Given the description of an element on the screen output the (x, y) to click on. 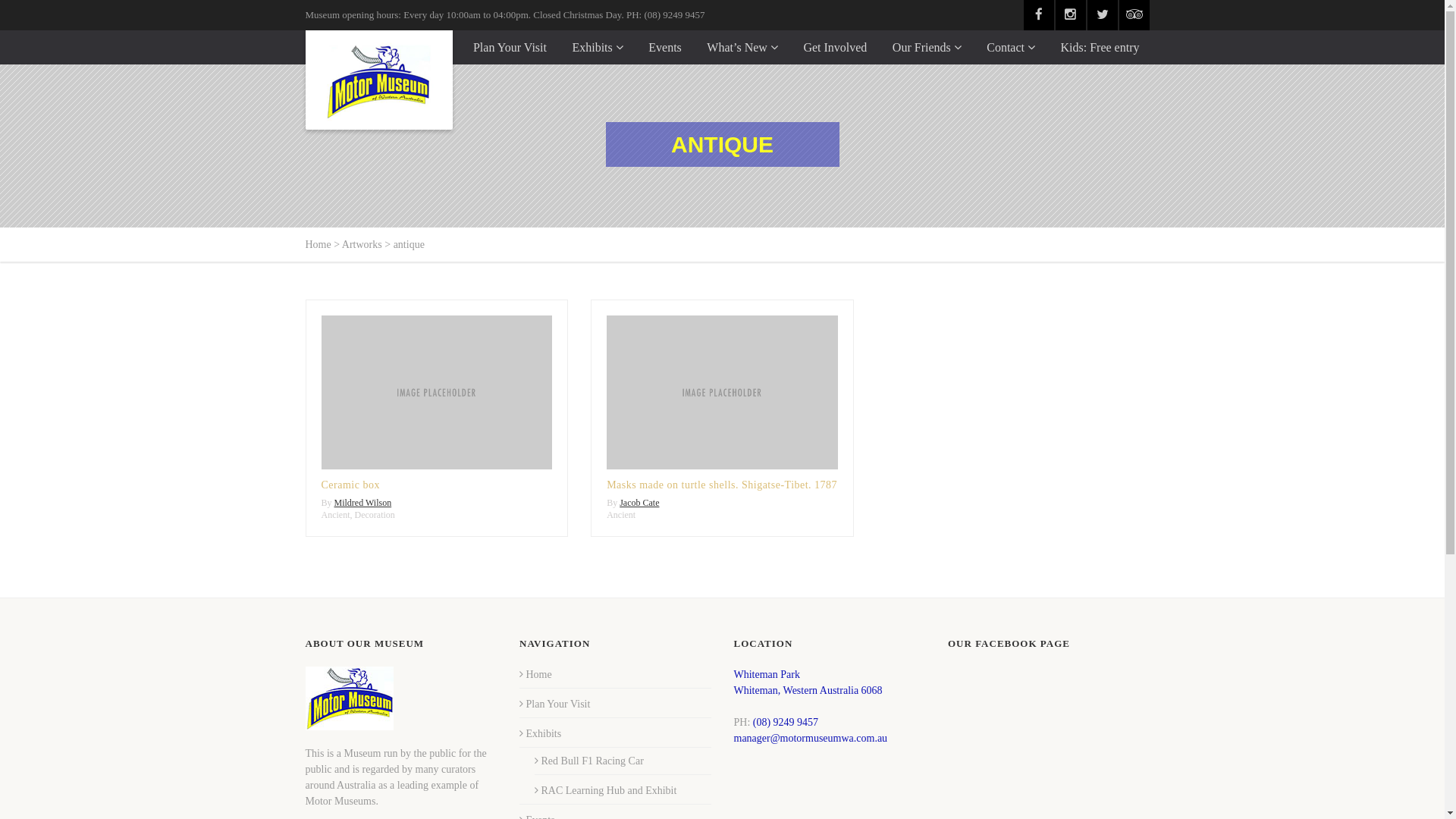
Exhibits Element type: text (596, 47)
Exhibits Element type: text (540, 733)
Ceramic box Element type: text (350, 484)
Motor Museum of Western Australia Element type: hover (378, 79)
Our Friends Element type: text (926, 47)
(08) 9249 9457 Element type: text (785, 722)
Mildred Wilson Element type: text (363, 502)
Ancient Element type: text (620, 514)
Kids: Free entry Element type: text (1099, 47)
Get Involved Element type: text (834, 47)
Ancient Element type: text (335, 514)
Masks made on turtle shells. Shigatse-Tibet. 1787 Element type: text (721, 484)
Jacob Cate Element type: text (638, 502)
manager@motormuseumwa.com.au Element type: text (811, 737)
Plan Your Visit Element type: text (509, 47)
Plan Your Visit Element type: text (554, 704)
Decoration Element type: text (374, 514)
Contact Element type: text (1010, 47)
Artworks Element type: text (362, 244)
Whiteman Park
Whiteman, Western Australia 6068 Element type: text (808, 682)
Home Element type: text (432, 47)
RAC Learning Hub and Exhibit Element type: text (605, 790)
Home Element type: text (535, 674)
Events Element type: text (664, 47)
Red Bull F1 Racing Car Element type: text (588, 760)
Home Element type: text (317, 244)
